Given the description of an element on the screen output the (x, y) to click on. 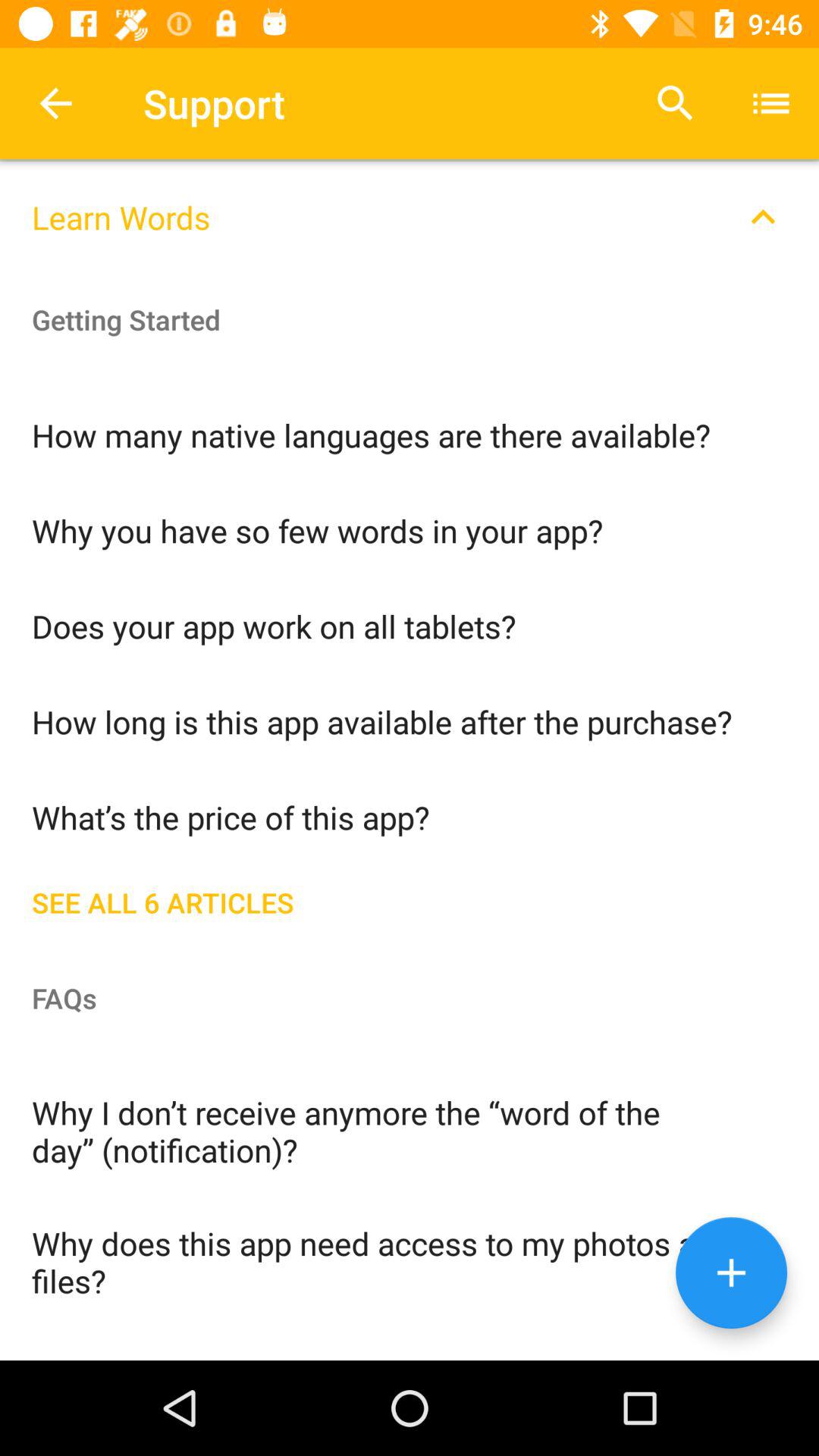
scroll until the what s the icon (409, 815)
